Given the description of an element on the screen output the (x, y) to click on. 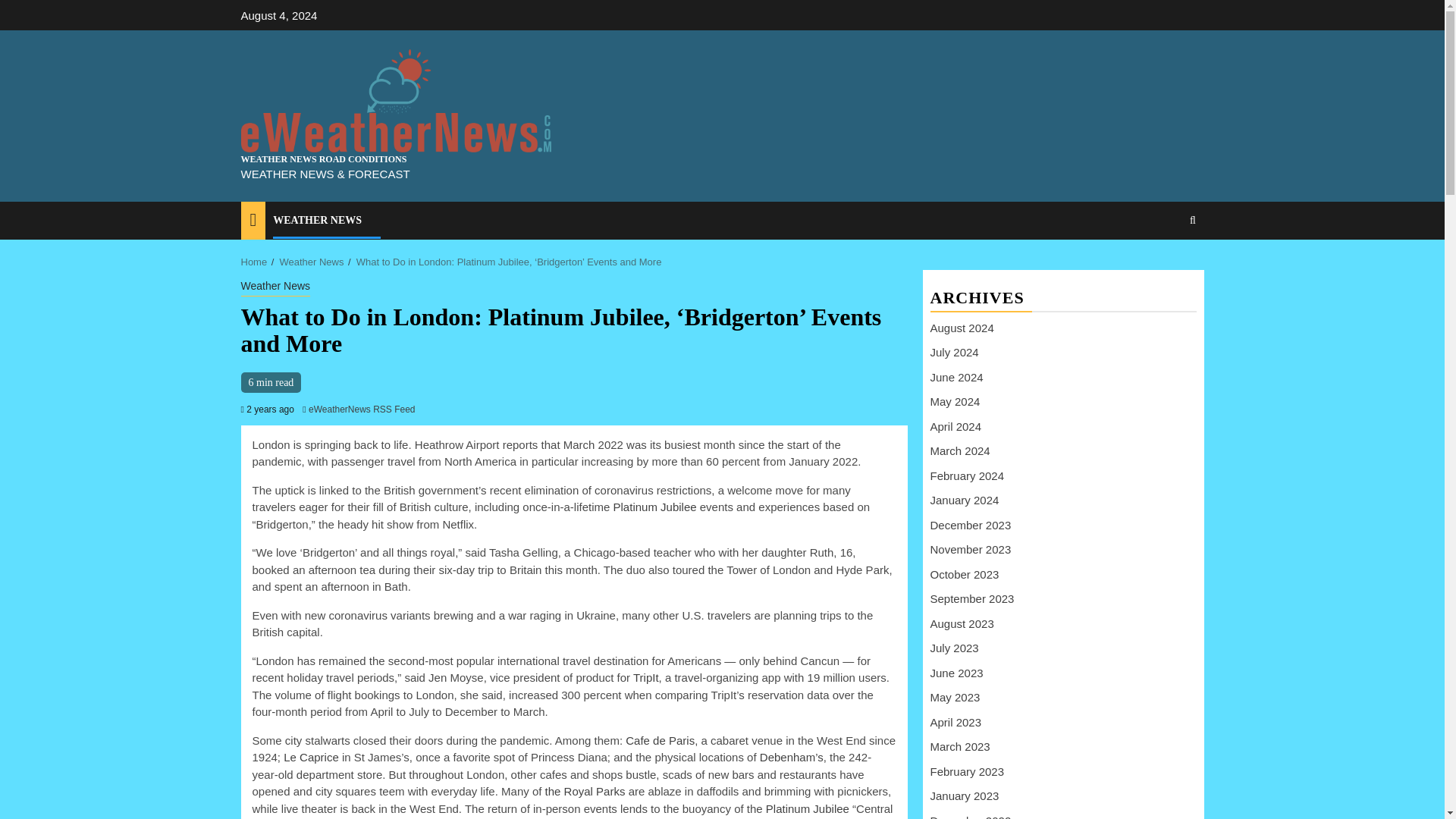
Le Caprice (312, 757)
WEATHER NEWS (317, 220)
the Royal Parks (585, 790)
TripIt (646, 676)
WEATHER NEWS ROAD CONDITIONS (324, 158)
Weather News (311, 261)
Platinum Jubilee (806, 808)
Platinum Jubilee (654, 506)
eWeatherNews RSS Feed (361, 409)
Weather News (276, 287)
Cafe de Paris (660, 739)
Home (254, 261)
Search (1163, 266)
